Given the description of an element on the screen output the (x, y) to click on. 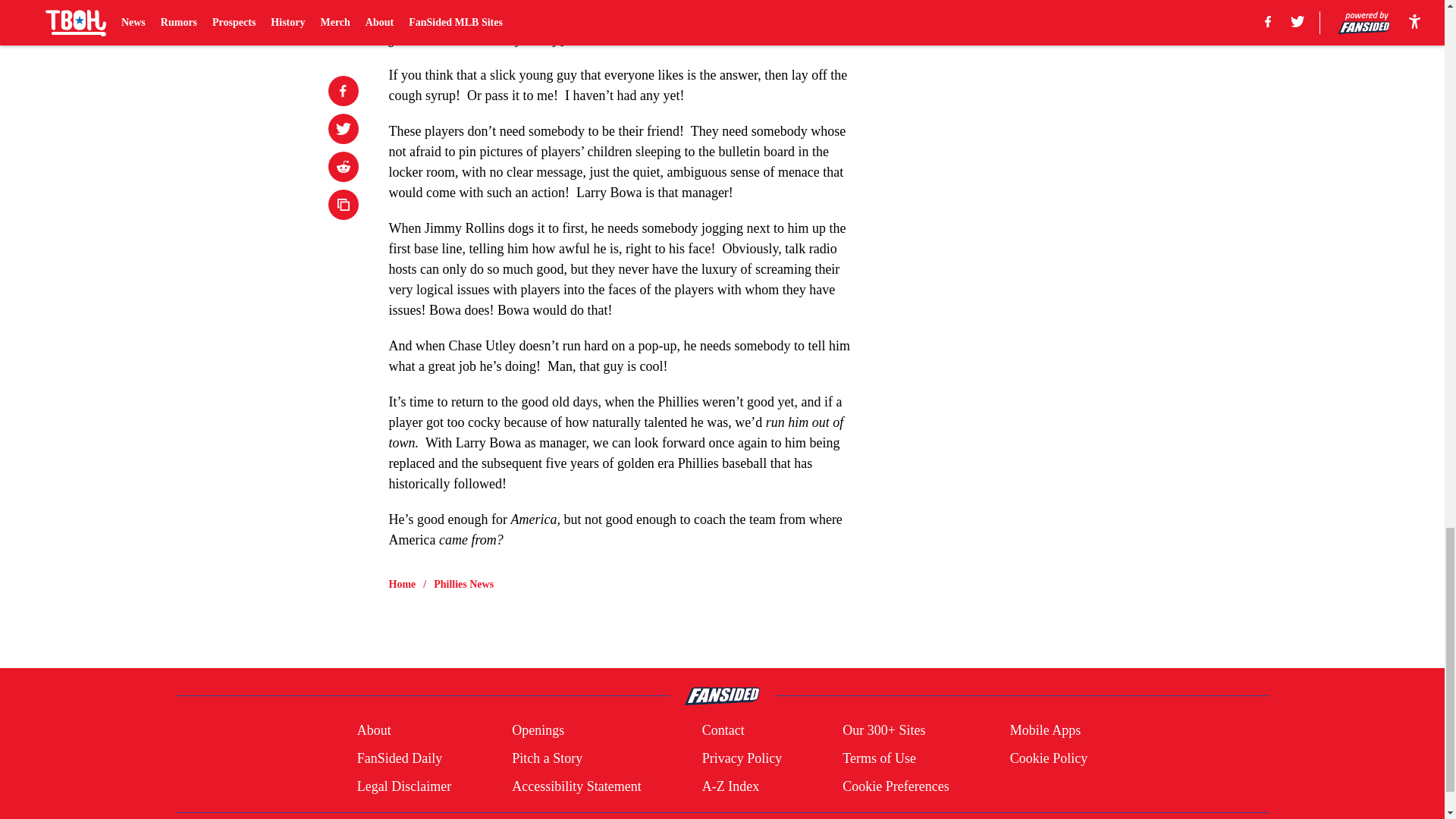
Home (401, 584)
Cookie Policy (1048, 758)
Legal Disclaimer (403, 786)
Pitch a Story (547, 758)
FanSided Daily (399, 758)
Privacy Policy (742, 758)
Mobile Apps (1045, 730)
Contact (722, 730)
Openings (538, 730)
Phillies News (463, 584)
